Given the description of an element on the screen output the (x, y) to click on. 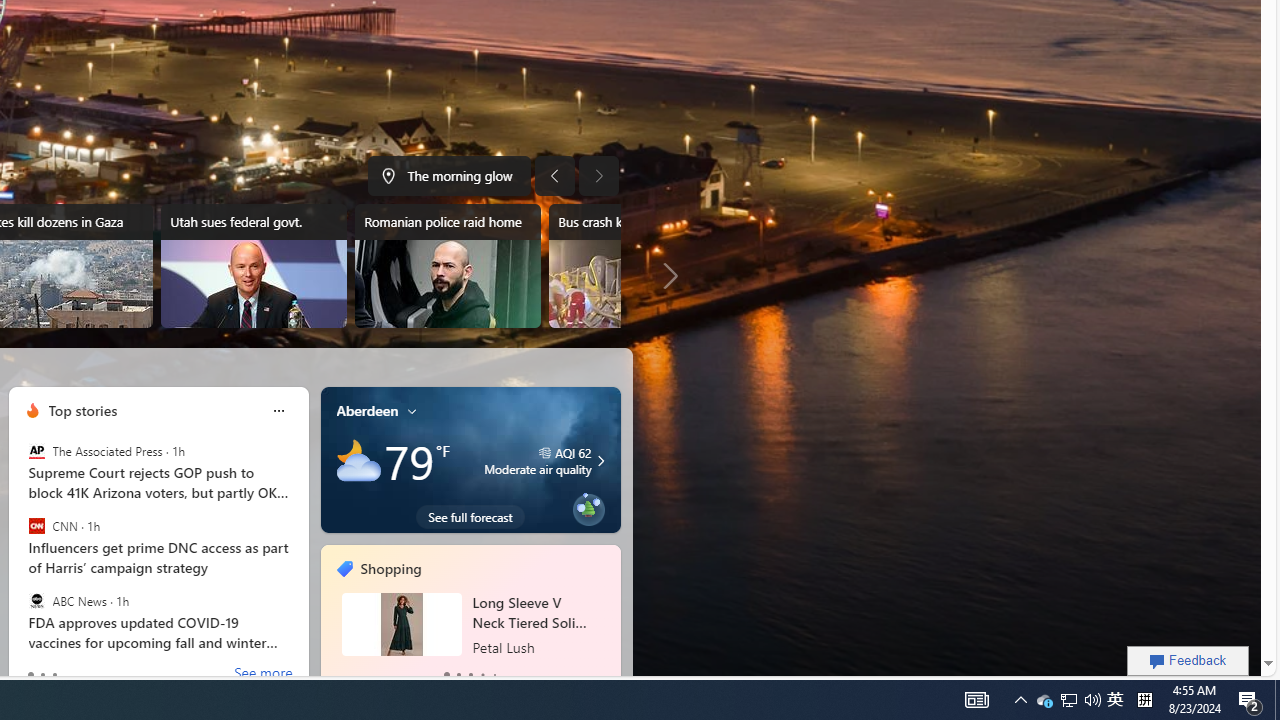
Credits: Iranian state television via AP) (640, 283)
The Associated Press (36, 451)
Romanian police raid home (447, 265)
More news (665, 275)
CNN (36, 525)
tab-0 (446, 674)
See full forecast (470, 516)
Grow a virtual seed into a real tree (588, 506)
aqi-icon (544, 453)
previous (330, 617)
Top stories (82, 410)
Class: eplant-img (587, 506)
